Given the description of an element on the screen output the (x, y) to click on. 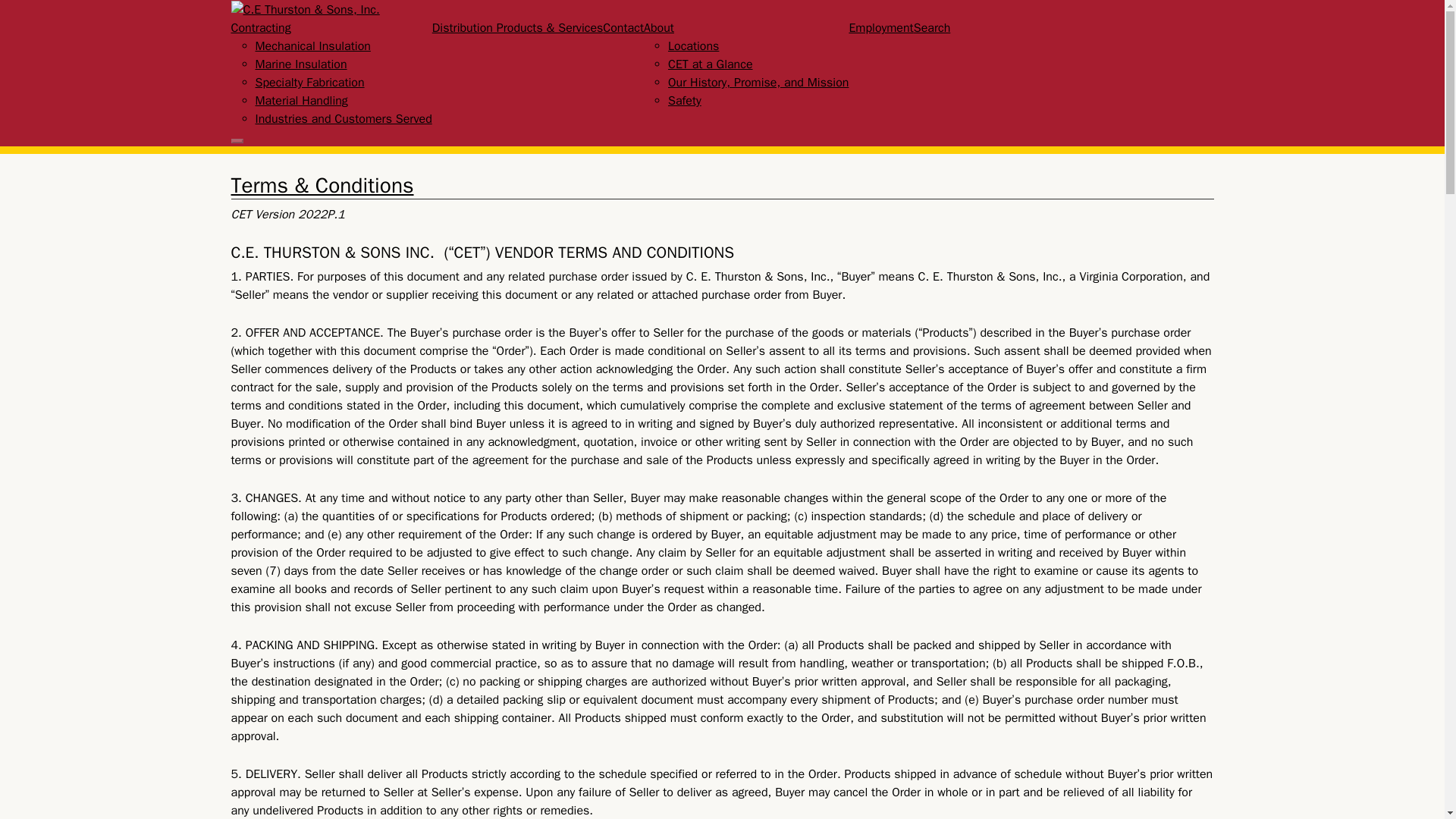
Mechanical Insulation (311, 46)
Employment (880, 28)
Search (932, 28)
Contact (622, 28)
Marine Insulation (300, 64)
Contracting (259, 28)
About (658, 28)
Locations (693, 46)
Material Handling (300, 100)
Industries and Customers Served (342, 118)
